Given the description of an element on the screen output the (x, y) to click on. 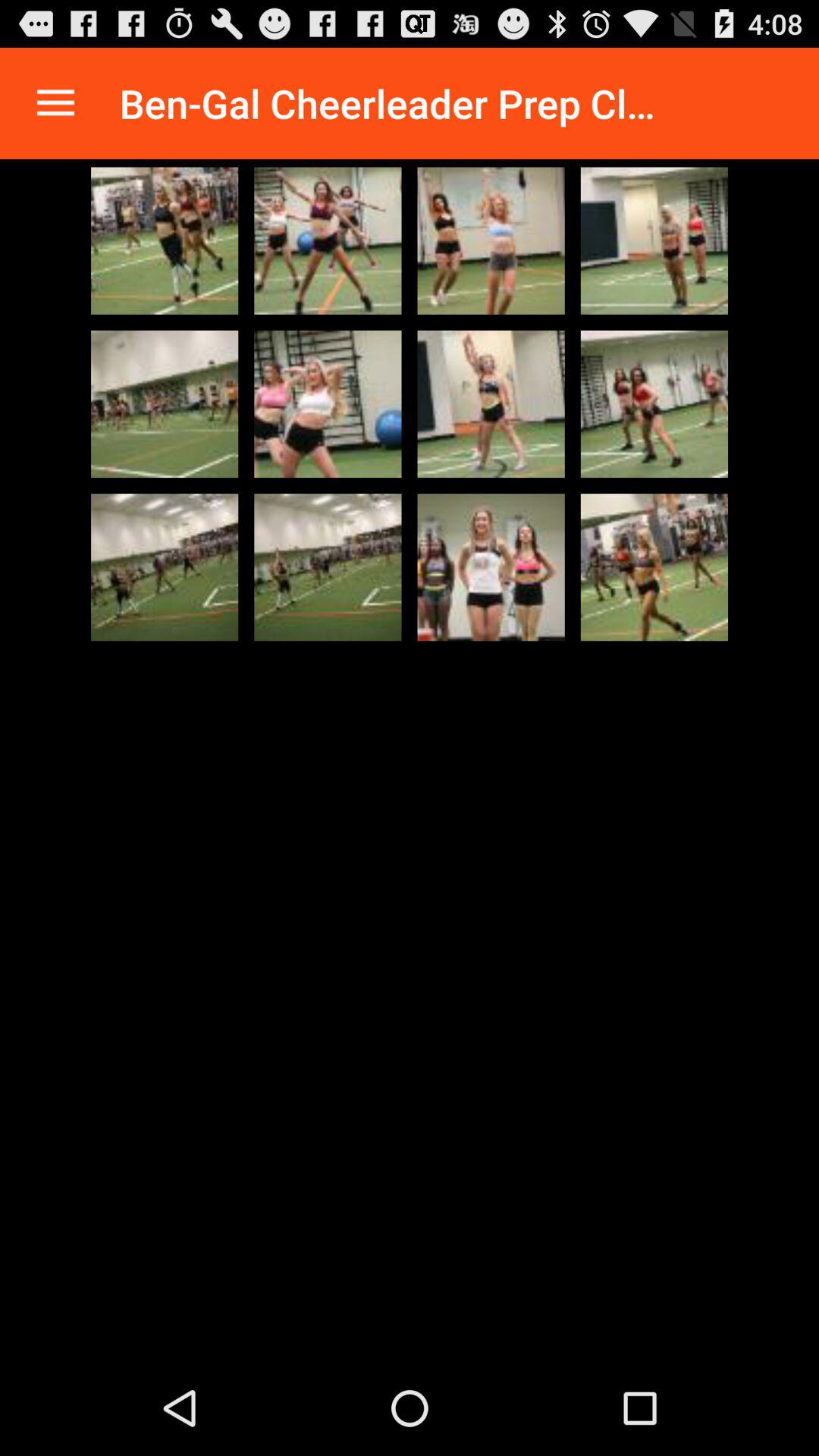
photo thumbnail (164, 403)
